Given the description of an element on the screen output the (x, y) to click on. 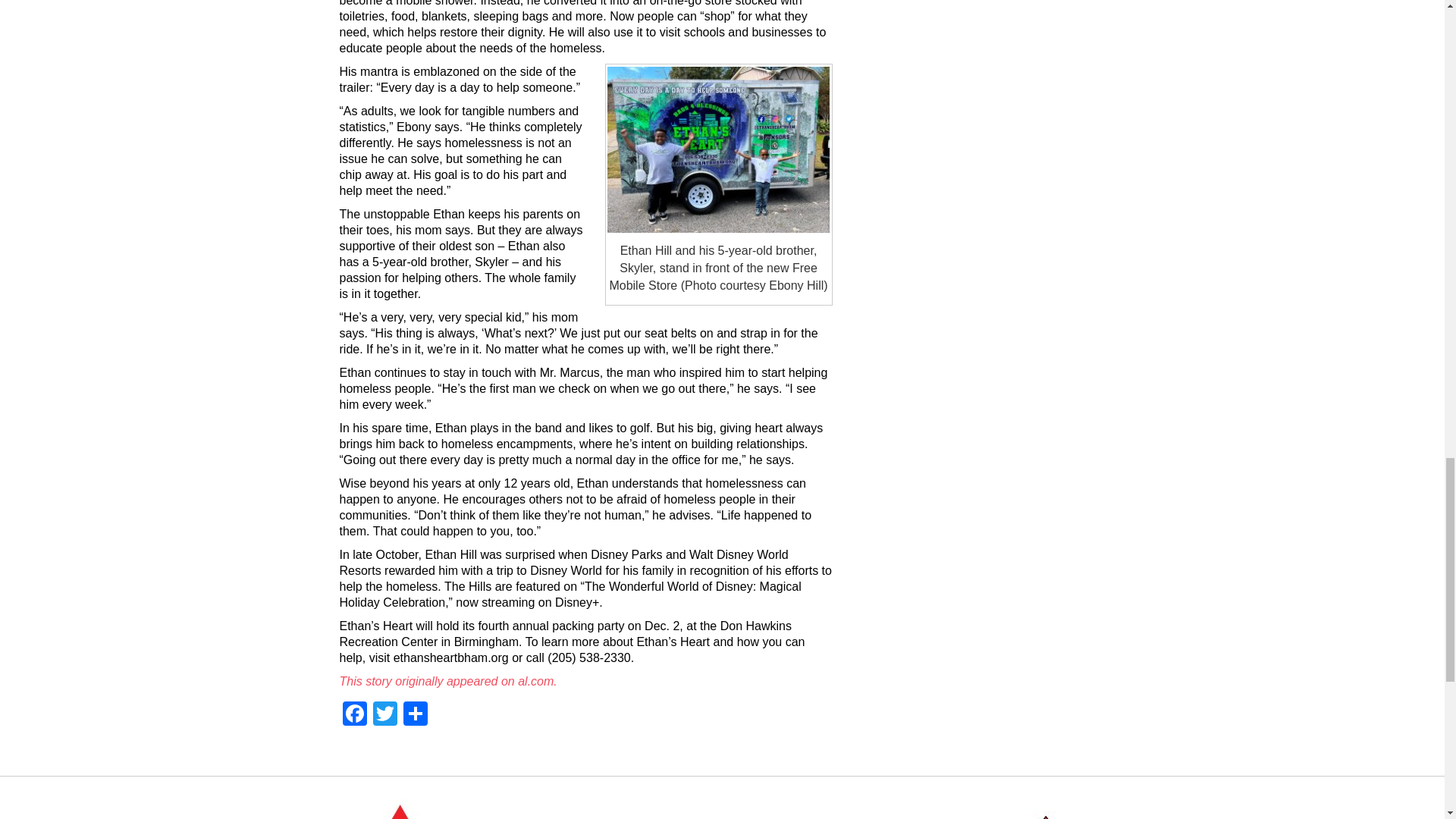
Facebook (354, 715)
Twitter (384, 715)
Share (415, 715)
Facebook (354, 715)
Twitter (384, 715)
This story originally appeared on al.com.  (449, 680)
